Given the description of an element on the screen output the (x, y) to click on. 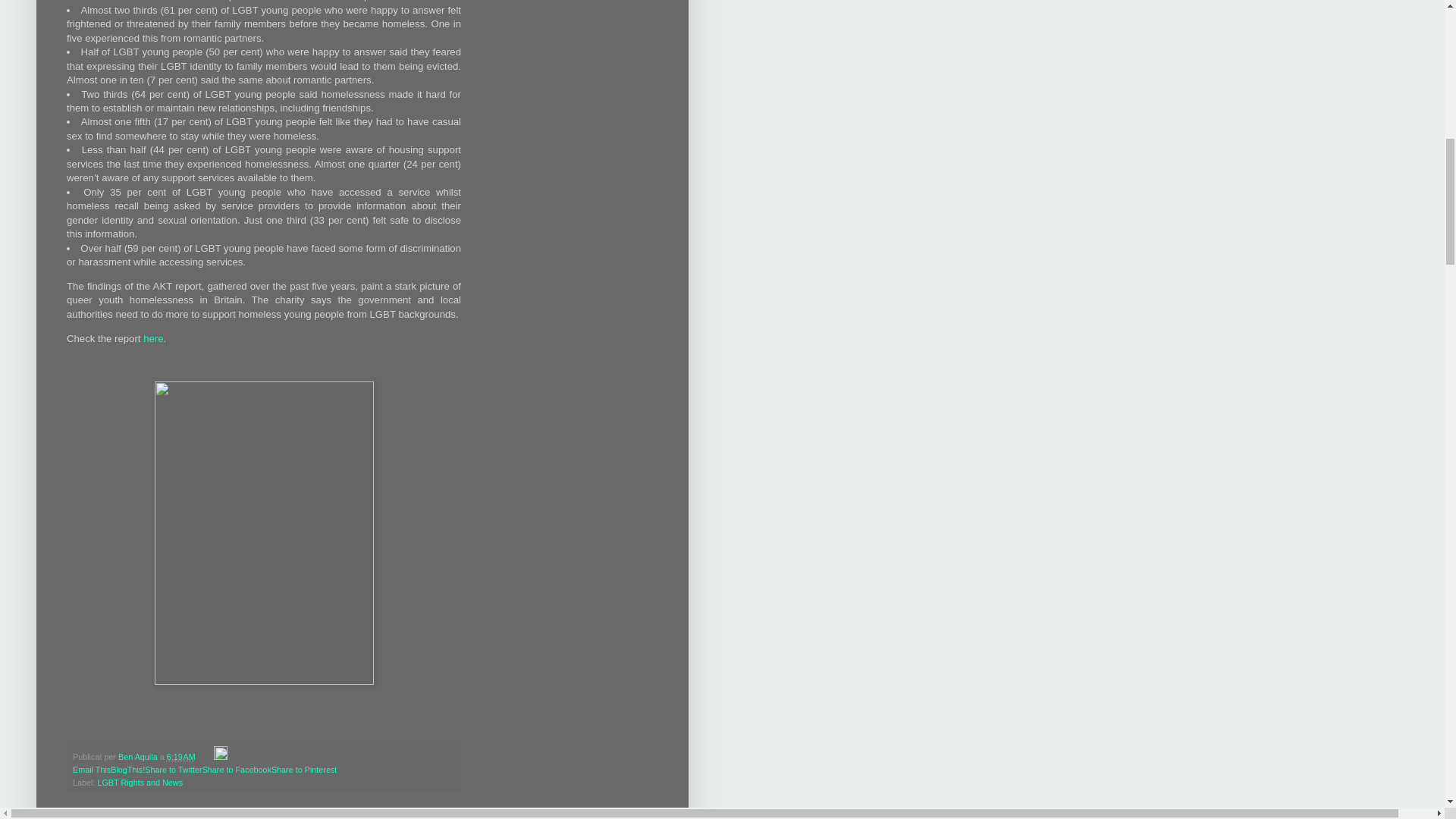
Email This (91, 768)
BlogThis! (127, 768)
author profile (138, 756)
here (152, 337)
LGBT Rights and News (140, 782)
Share to Pinterest (303, 768)
Email This (91, 768)
Share to Pinterest (303, 768)
Share to Twitter (173, 768)
Email Post (206, 756)
Share to Facebook (236, 768)
Share to Twitter (173, 768)
Ben Aquila (138, 756)
permanent link (181, 756)
